Given the description of an element on the screen output the (x, y) to click on. 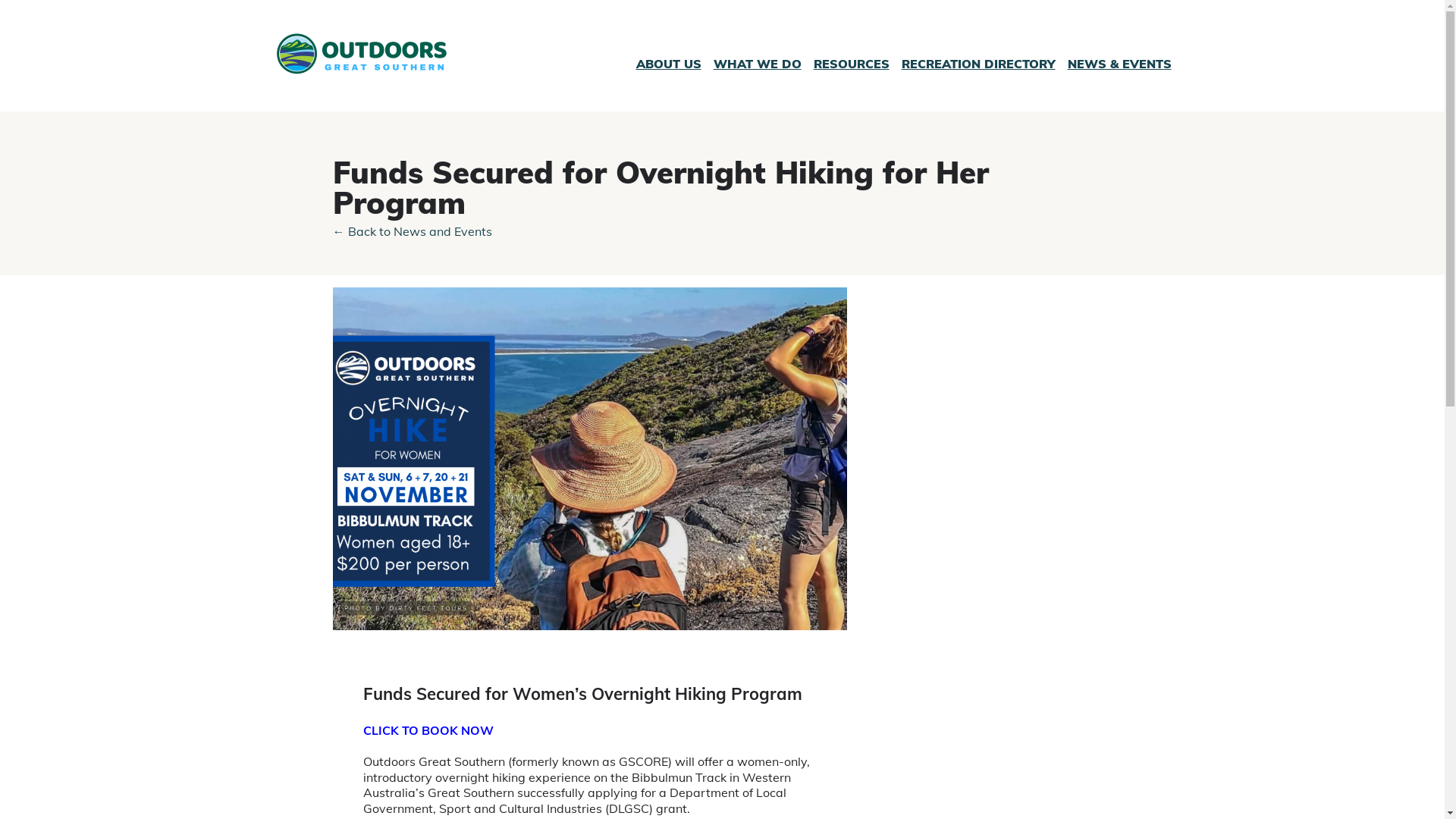
WHAT WE DO Element type: text (756, 63)
RESOURCES Element type: text (850, 63)
ABOUT US Element type: text (667, 63)
CLICK TO BOOK NOW Element type: text (427, 729)
NEWS & EVENTS Element type: text (1119, 63)
RECREATION DIRECTORY Element type: text (977, 63)
